Given the description of an element on the screen output the (x, y) to click on. 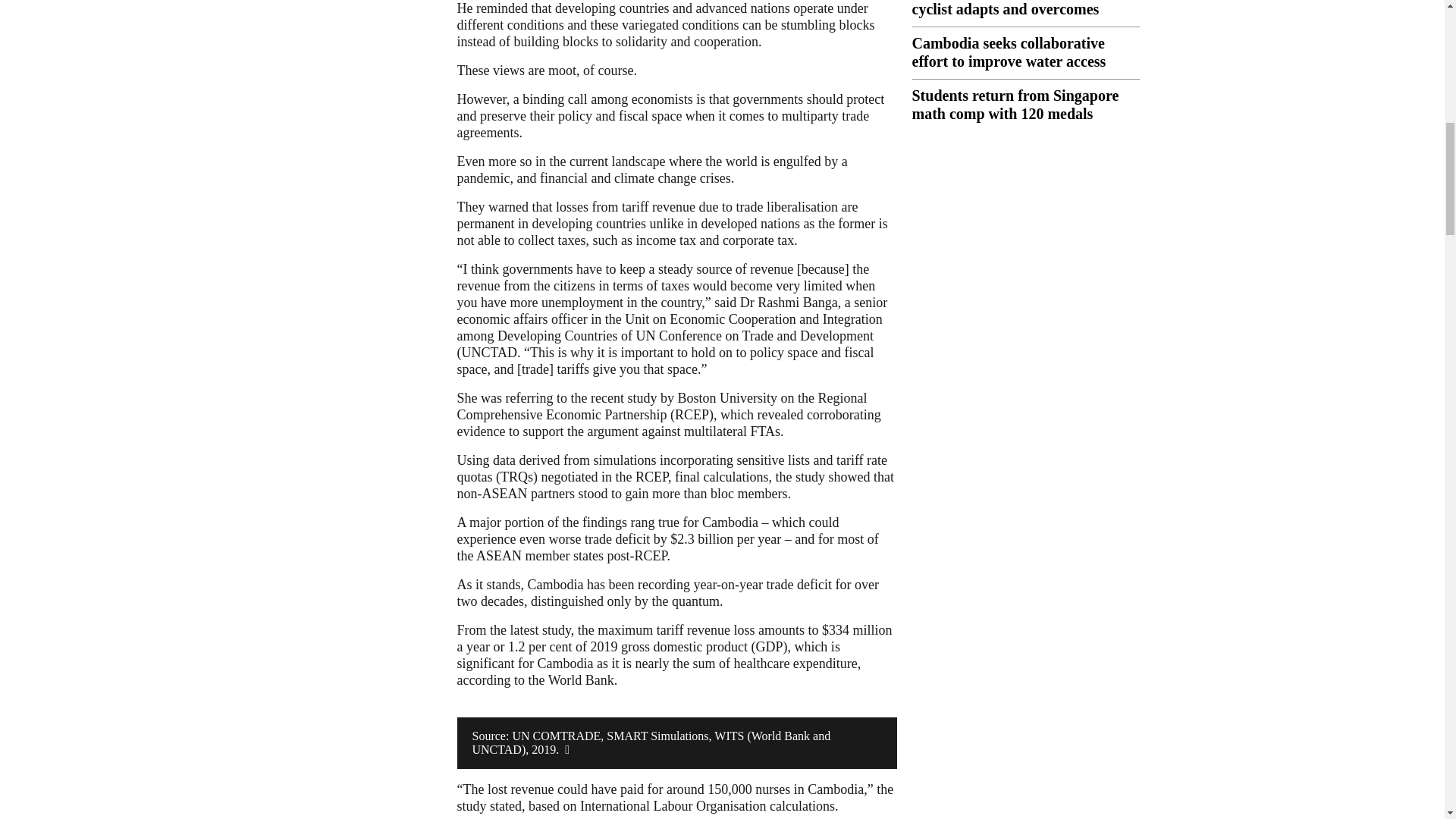
Students return from Singapore math comp with 120 medals (1014, 104)
Cambodia seeks collaborative effort to improve water access (1008, 52)
